Given the description of an element on the screen output the (x, y) to click on. 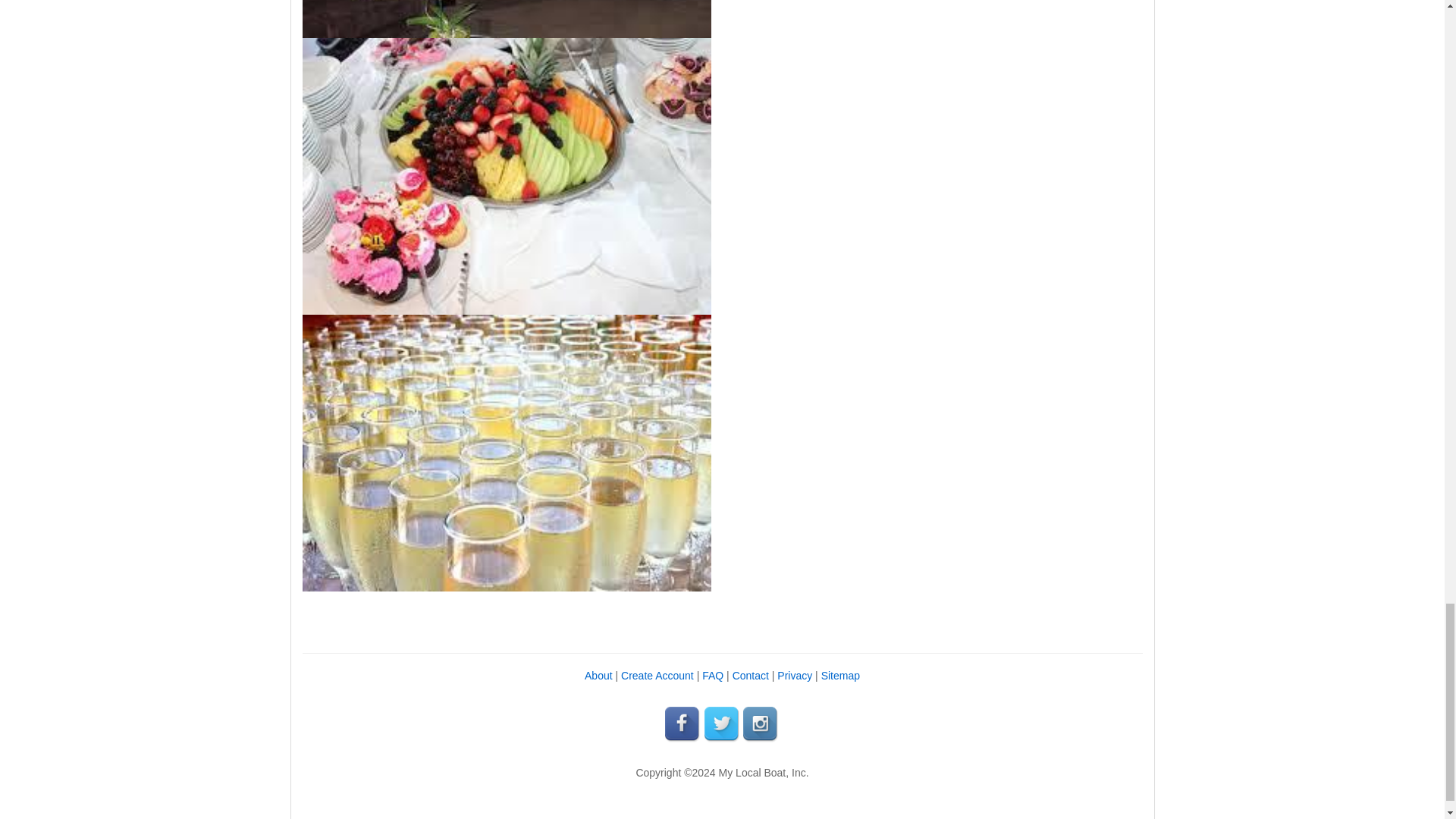
Follow on Instagram (760, 724)
Follow on Twitter (721, 724)
Follow on Facebook (683, 724)
